Given the description of an element on the screen output the (x, y) to click on. 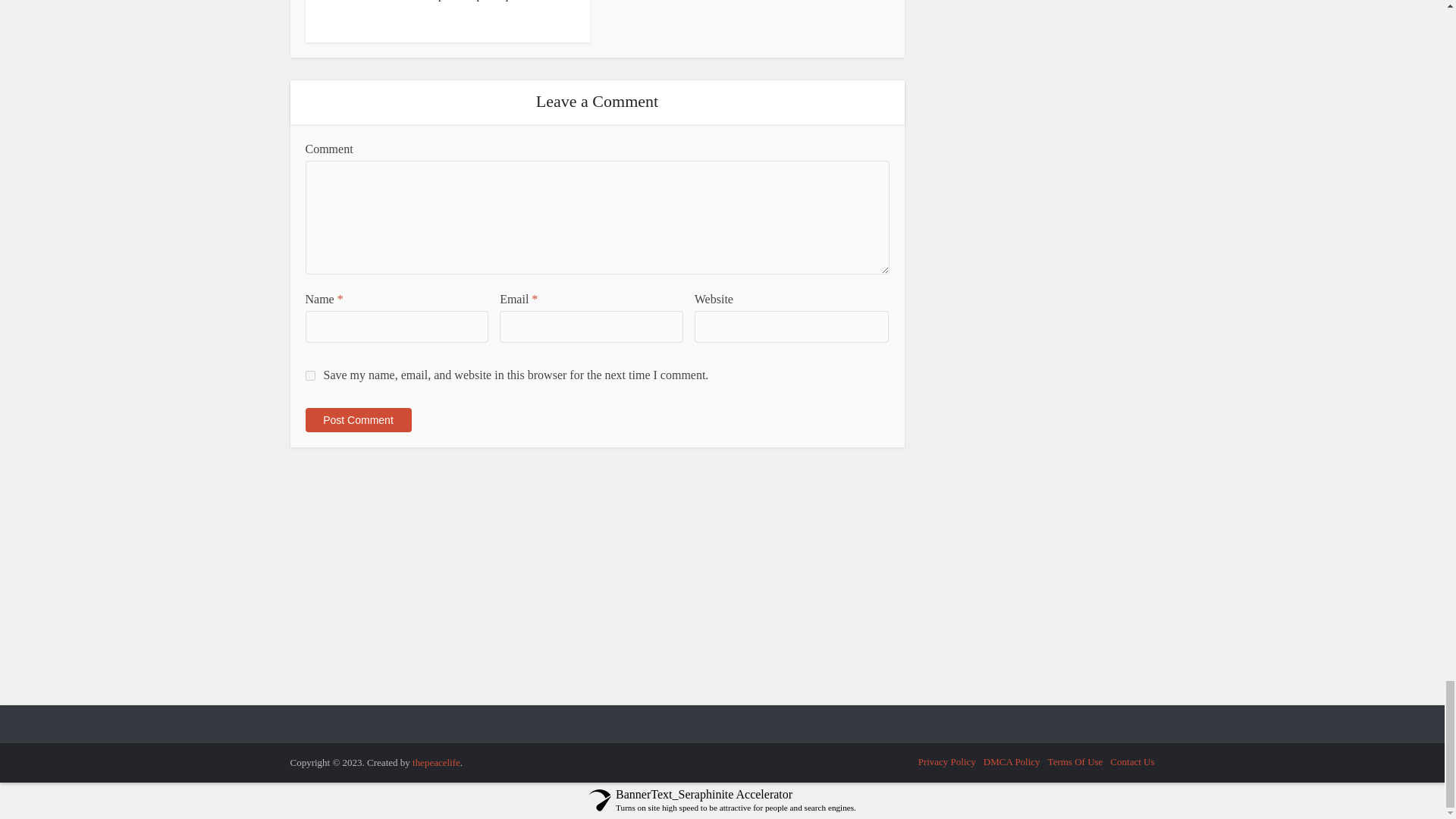
Top 5 best pick-up trucks 2023 (496, 0)
Post Comment (357, 419)
yes (309, 375)
